Given the description of an element on the screen output the (x, y) to click on. 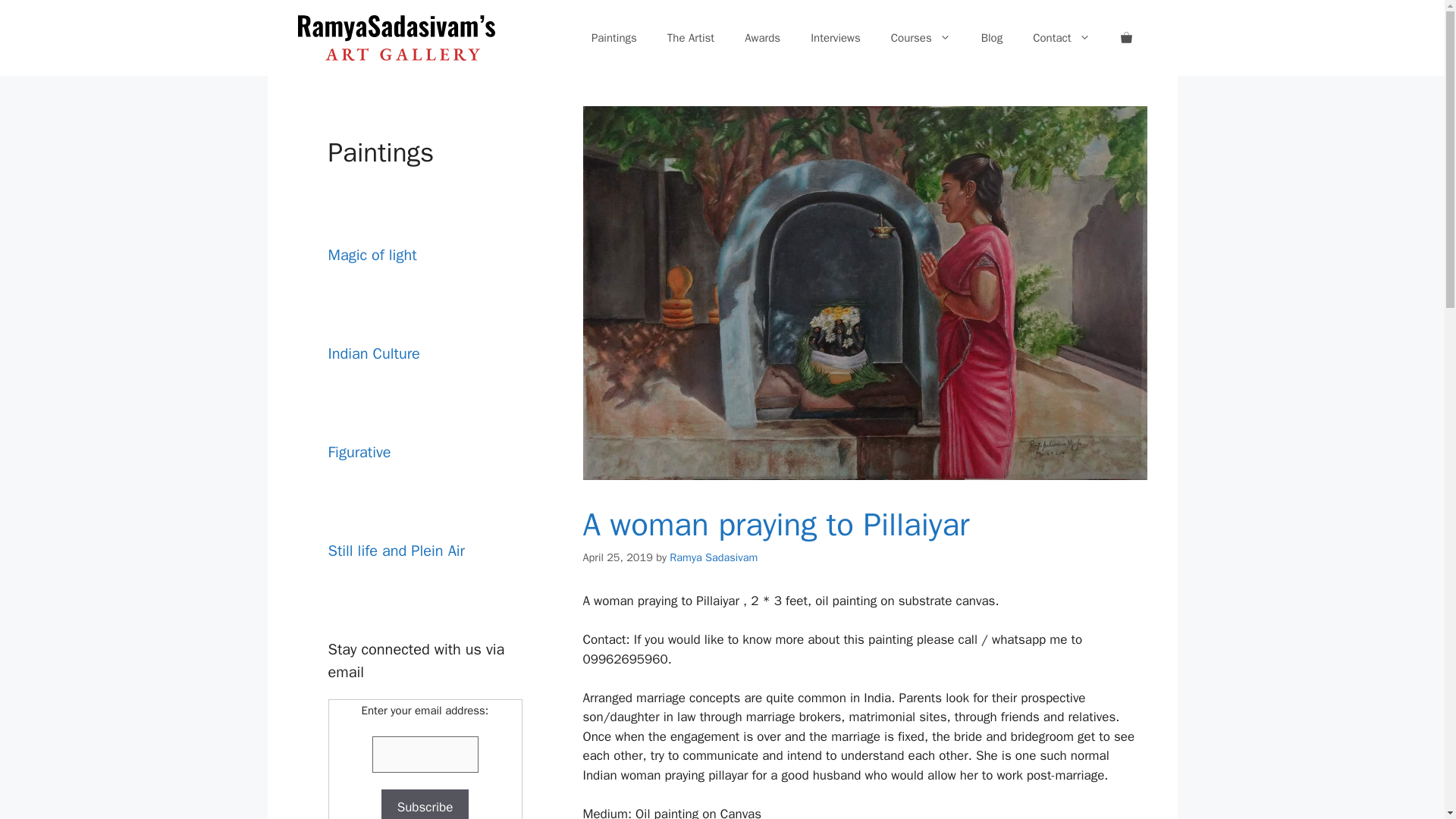
Ramya Sadasivam (713, 557)
The Artist (690, 37)
Contact (1061, 37)
View all posts by Ramya Sadasivam (713, 557)
Interviews (835, 37)
Awards (761, 37)
Subscribe (424, 804)
Paintings (614, 37)
View your shopping cart (1126, 37)
Blog (991, 37)
